Given the description of an element on the screen output the (x, y) to click on. 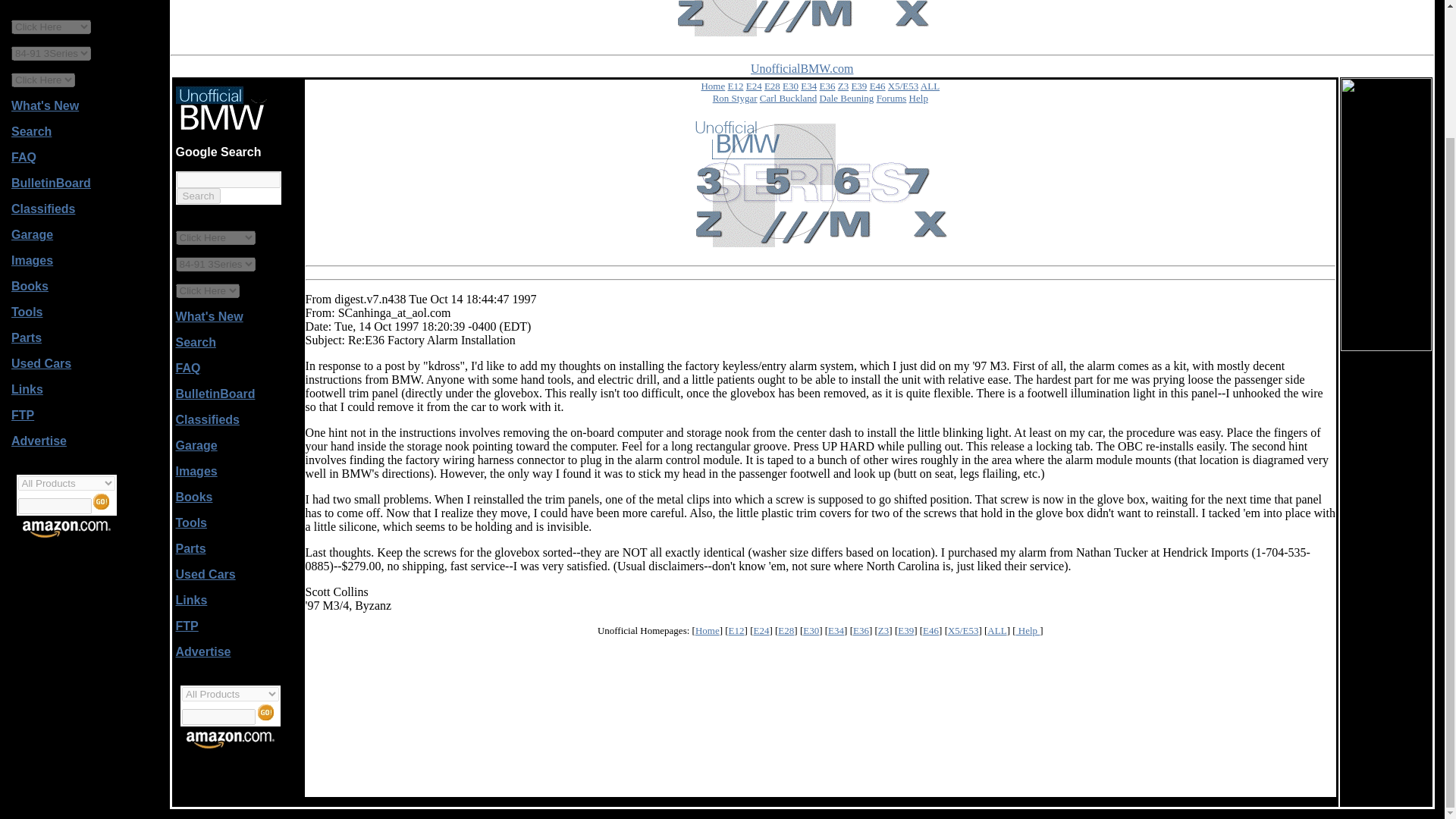
BulletinBoard (50, 182)
Used Cars (41, 363)
What's New (209, 316)
Search (30, 131)
What's New (44, 105)
FTP (22, 414)
Search (198, 195)
Search (198, 195)
Garage (31, 234)
Search (195, 341)
